Given the description of an element on the screen output the (x, y) to click on. 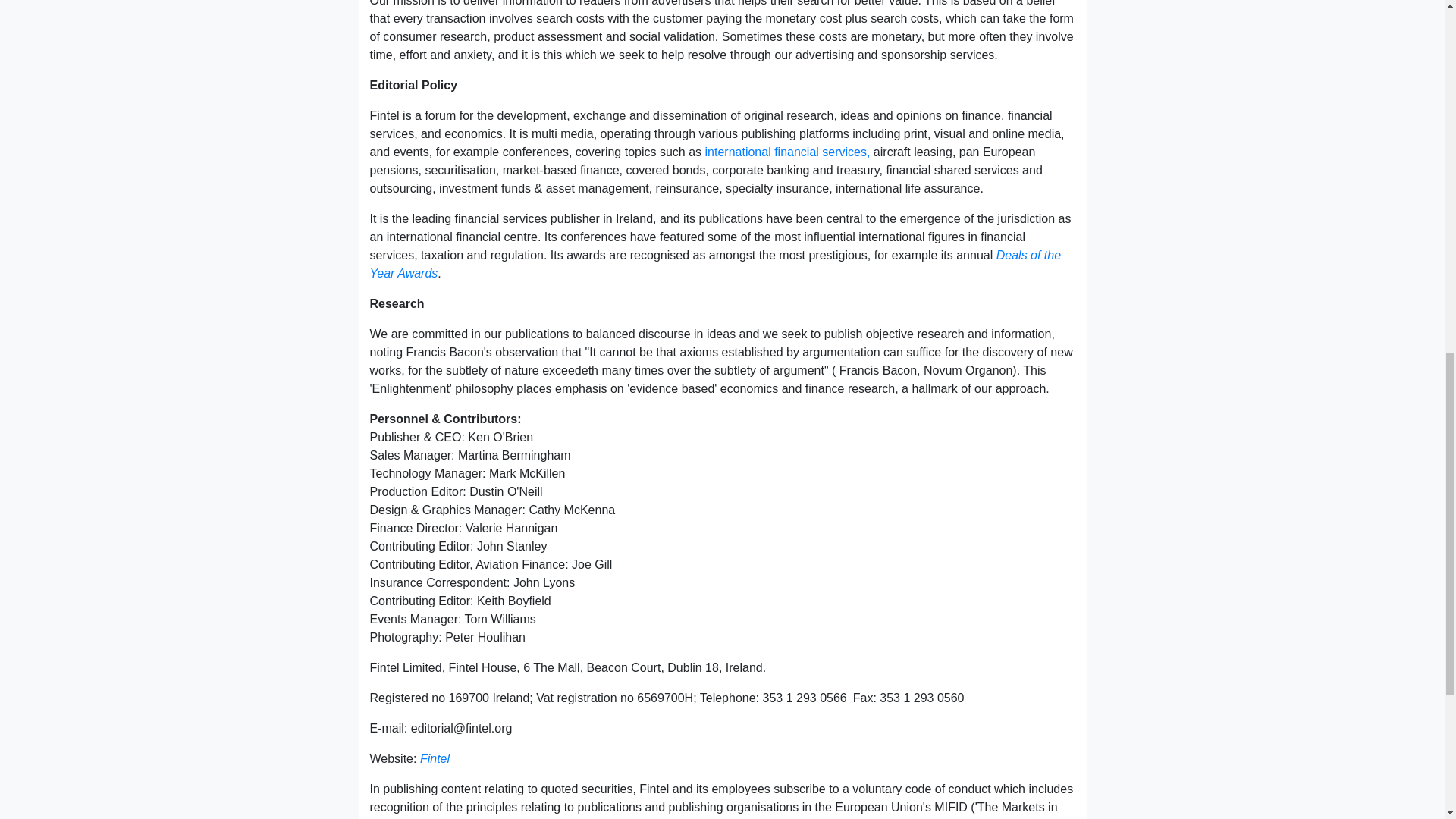
international financial services, (787, 151)
Deals of the Year Awards (715, 264)
Fintel (434, 758)
